Given the description of an element on the screen output the (x, y) to click on. 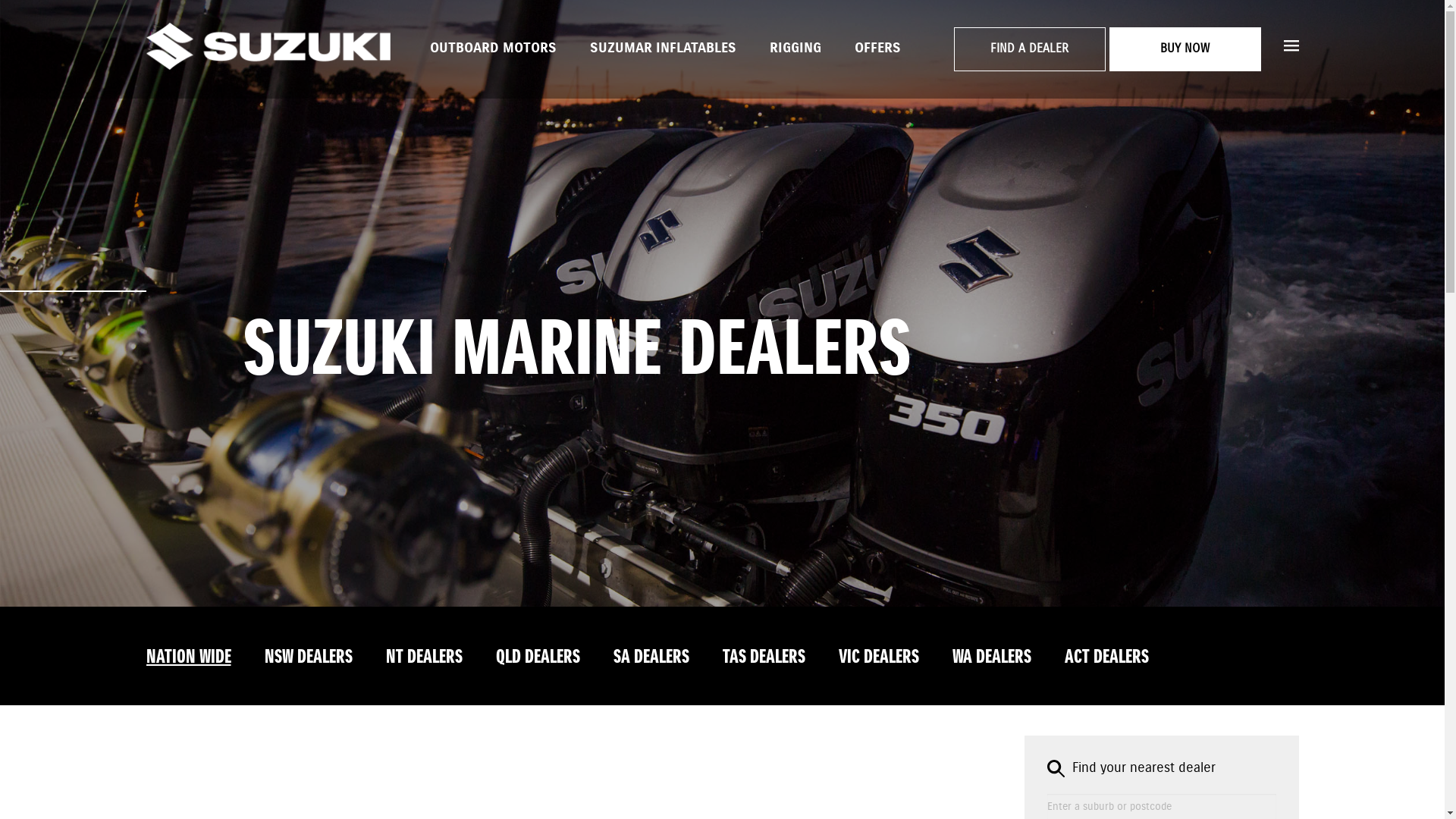
ACT DEALERS Element type: text (1106, 657)
Home page Element type: hover (267, 47)
BUY NOW Element type: text (1184, 49)
TAS DEALERS Element type: text (762, 657)
QLD DEALERS Element type: text (537, 657)
SA DEALERS Element type: text (650, 657)
OUTBOARD MOTORS Element type: text (492, 47)
NT DEALERS Element type: text (423, 657)
SUZUMAR INFLATABLES Element type: text (662, 47)
VIC DEALERS Element type: text (878, 657)
WA DEALERS Element type: text (991, 657)
OFFERS Element type: text (876, 47)
NSW DEALERS Element type: text (307, 657)
NATION WIDE Element type: text (187, 657)
FIND A DEALER Element type: text (1029, 49)
RIGGING Element type: text (794, 47)
